Given the description of an element on the screen output the (x, y) to click on. 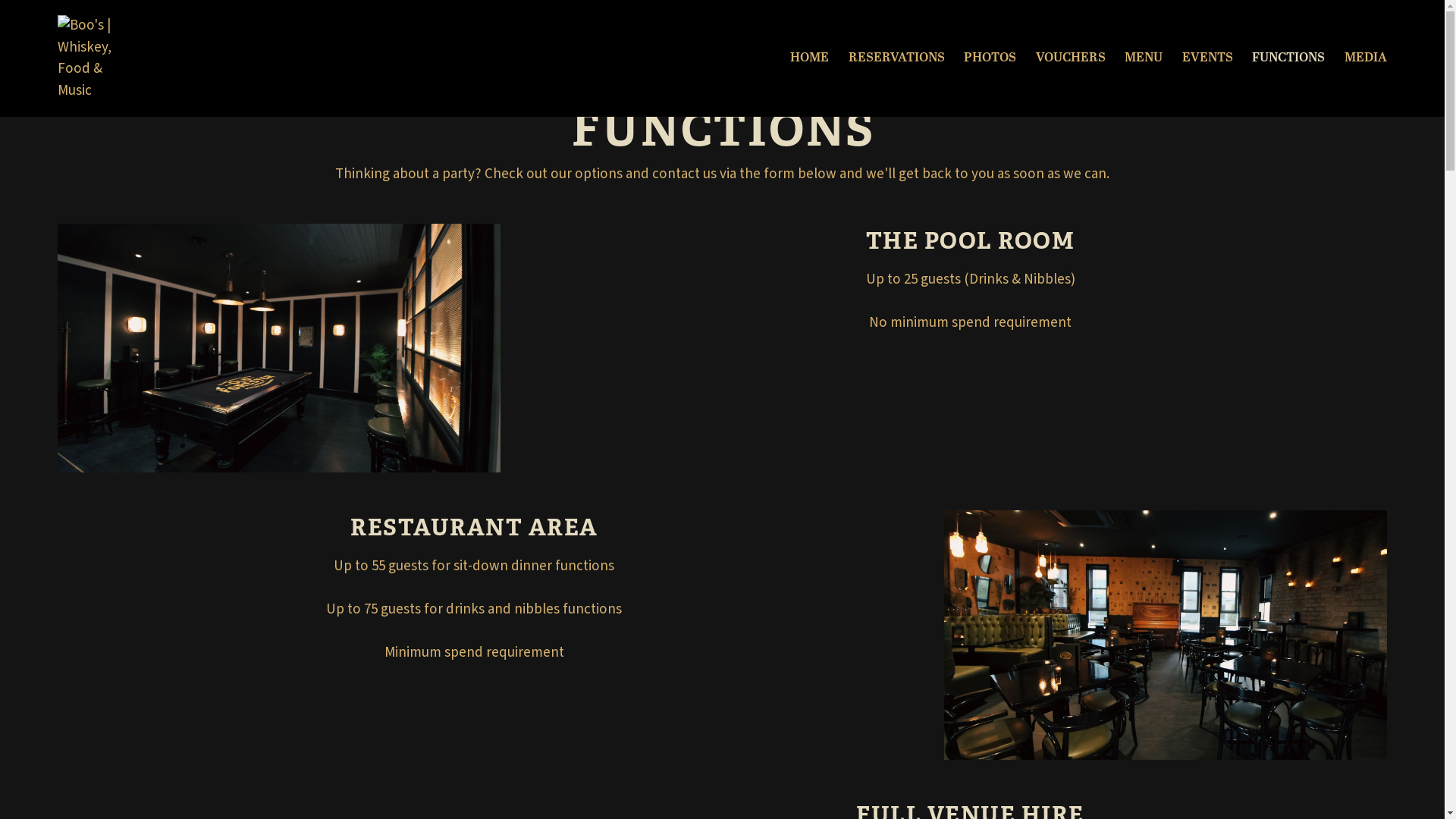
MENU Element type: text (1143, 58)
EVENTS Element type: text (1207, 58)
FUNCTIONS Element type: text (1288, 58)
MEDIA Element type: text (1365, 58)
VOUCHERS Element type: text (1070, 58)
RESERVATIONS Element type: text (896, 58)
PHOTOS Element type: text (989, 58)
HOME Element type: text (809, 58)
Boo's | Whiskey, Food & Music Element type: hover (94, 58)
